Given the description of an element on the screen output the (x, y) to click on. 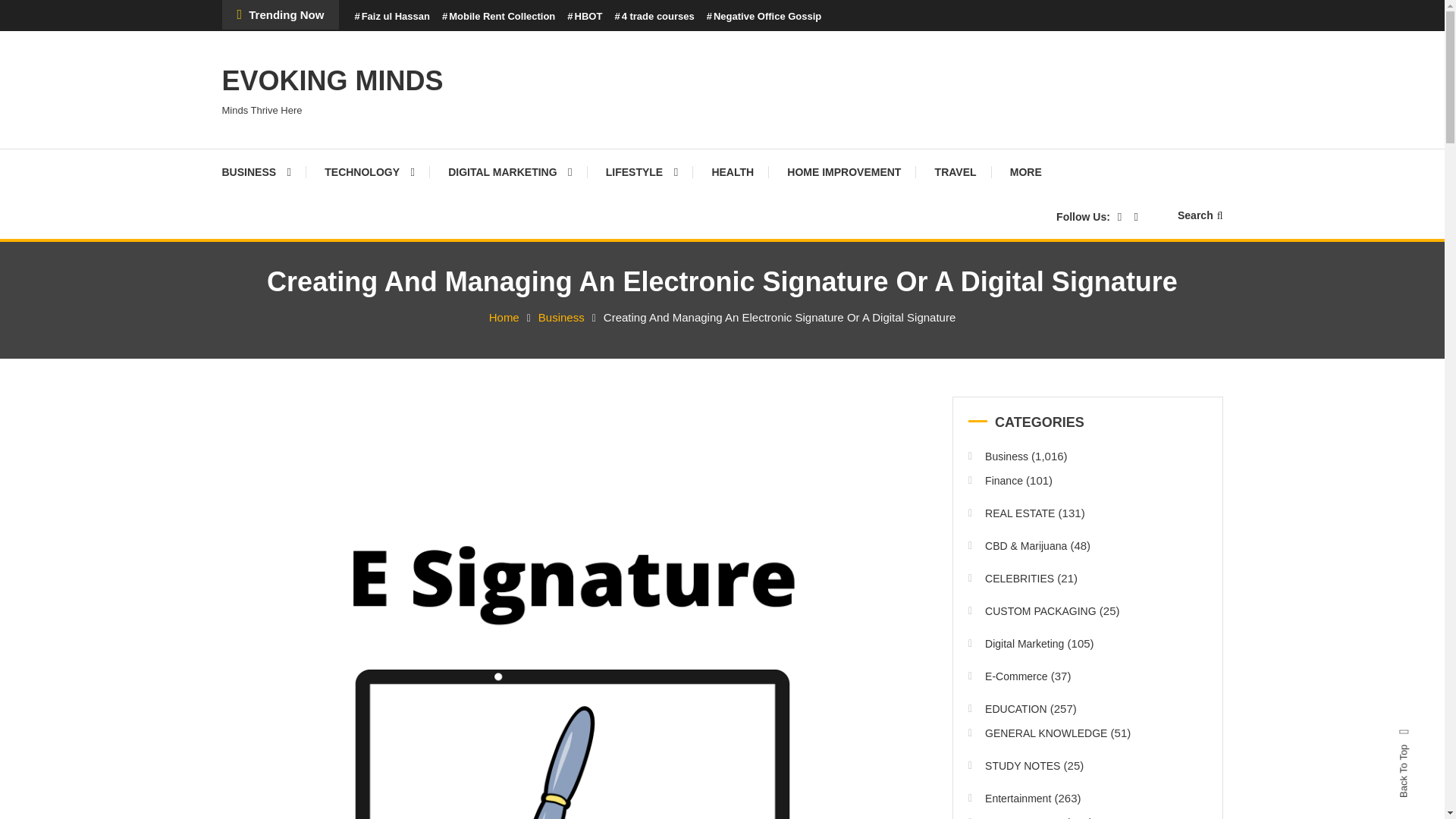
Negative Office Gossip (764, 16)
Search (1200, 215)
BUSINESS (263, 171)
TRAVEL (955, 171)
DIGITAL MARKETING (509, 171)
MORE (1025, 171)
Search (768, 432)
HOME IMPROVEMENT (843, 171)
Mobile Rent Collection (498, 16)
HEALTH (731, 171)
Home (504, 317)
Business (561, 317)
HBOT (584, 16)
TECHNOLOGY (368, 171)
4 trade courses (654, 16)
